Given the description of an element on the screen output the (x, y) to click on. 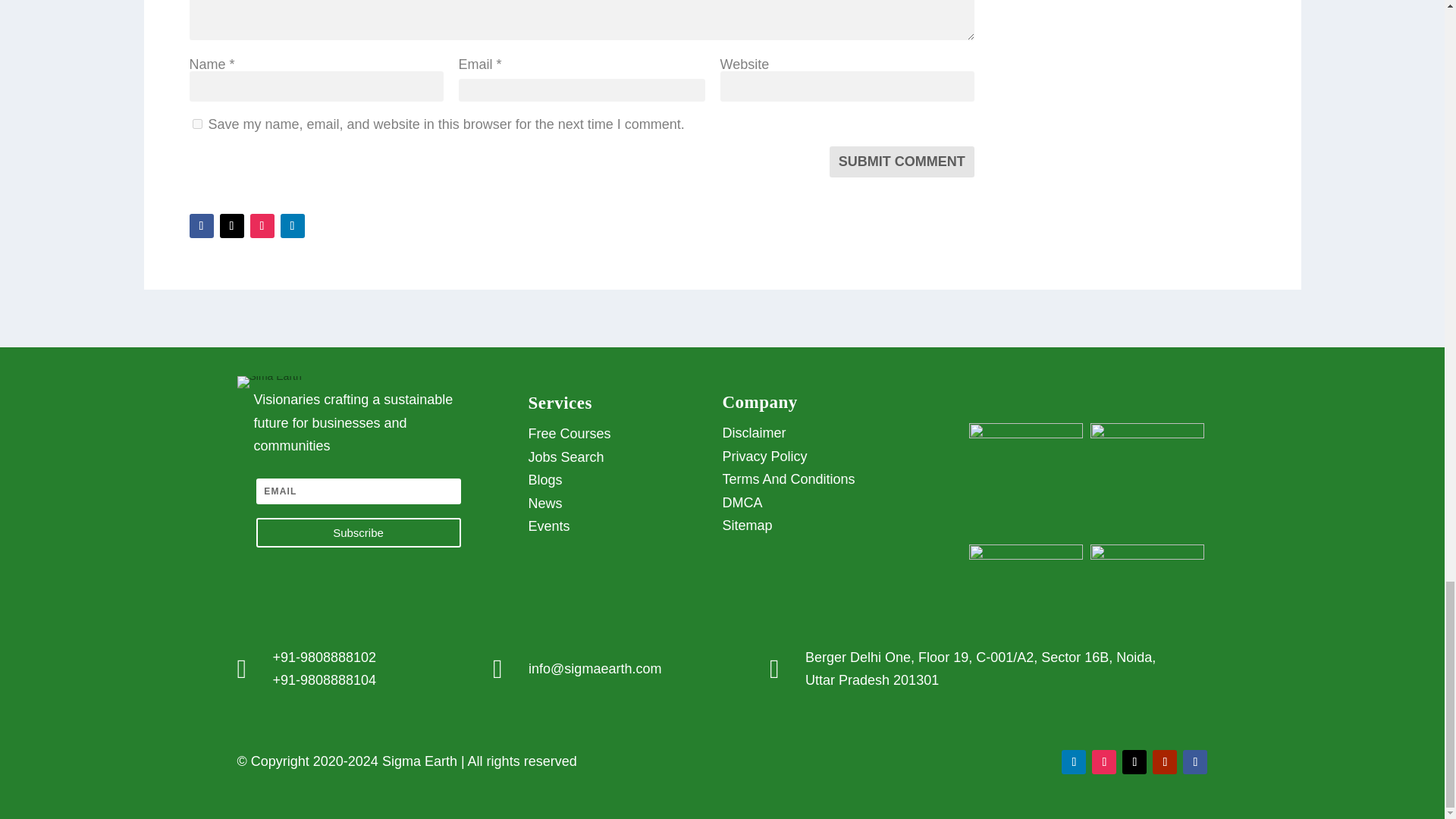
yes (197, 123)
